Given the description of an element on the screen output the (x, y) to click on. 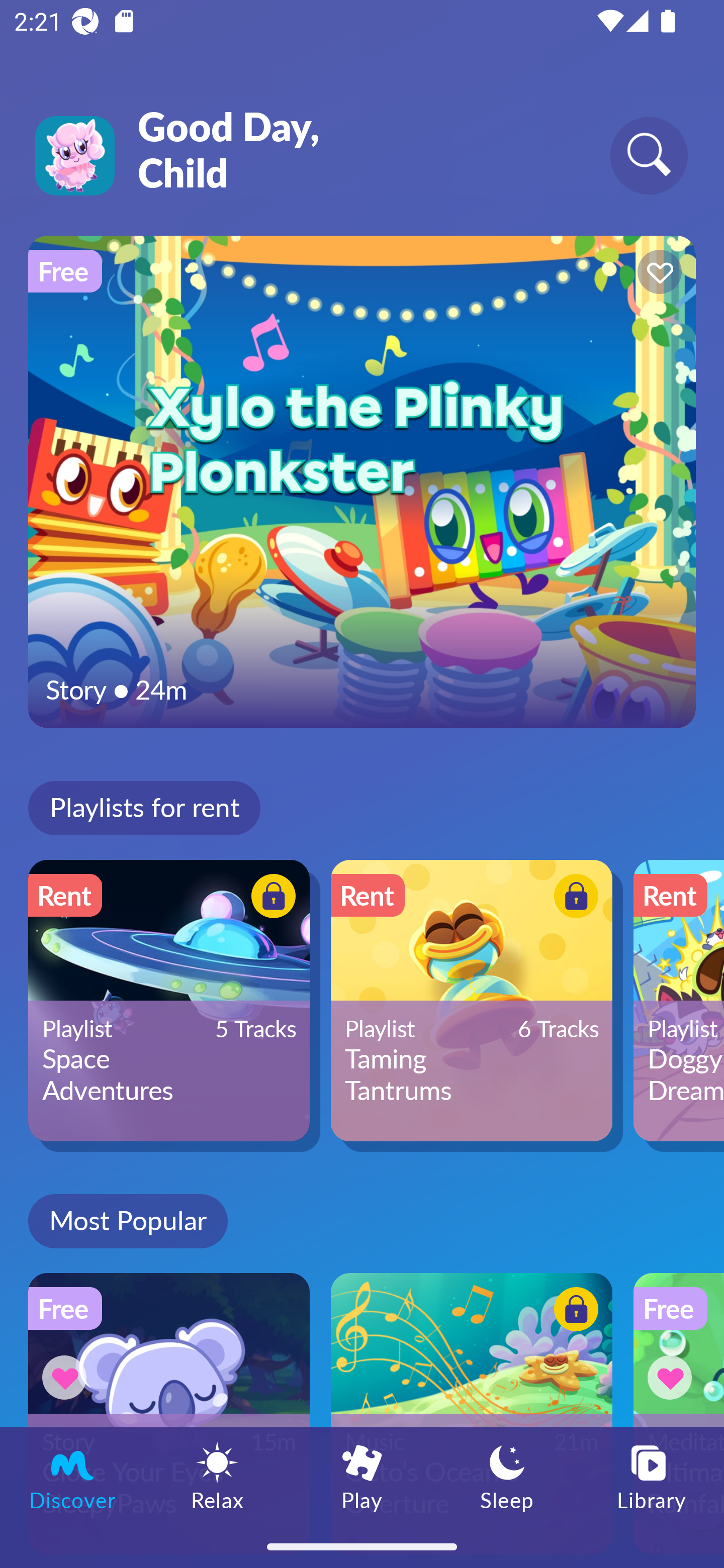
Search (648, 154)
Featured Content Free Button Story ● 24m (361, 481)
Button (656, 274)
Button (269, 898)
Button (573, 898)
Button (573, 1312)
Button (67, 1377)
Button (672, 1377)
Relax (216, 1475)
Play (361, 1475)
Sleep (506, 1475)
Library (651, 1475)
